Given the description of an element on the screen output the (x, y) to click on. 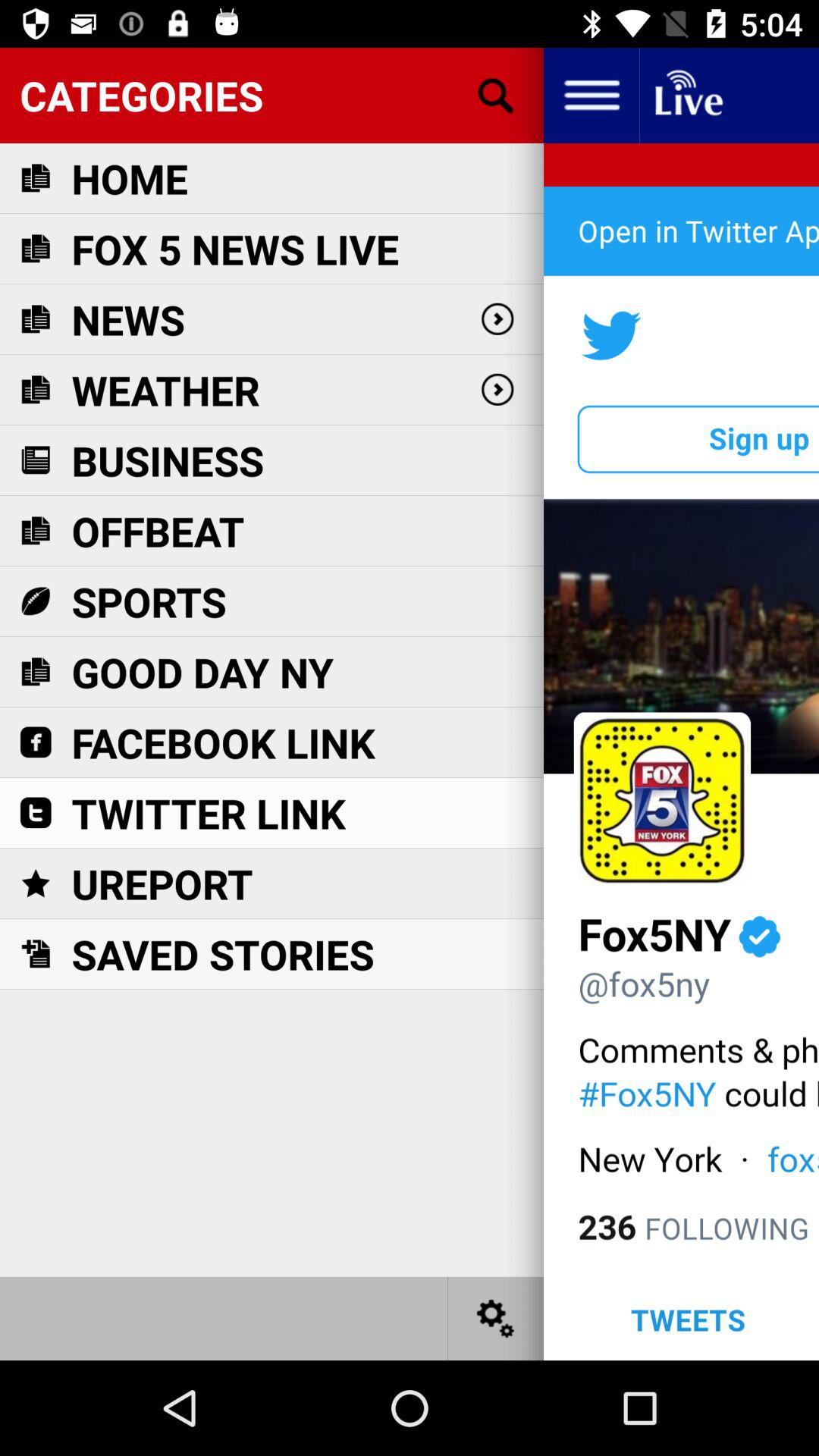
flip until fox 5 news icon (235, 248)
